Given the description of an element on the screen output the (x, y) to click on. 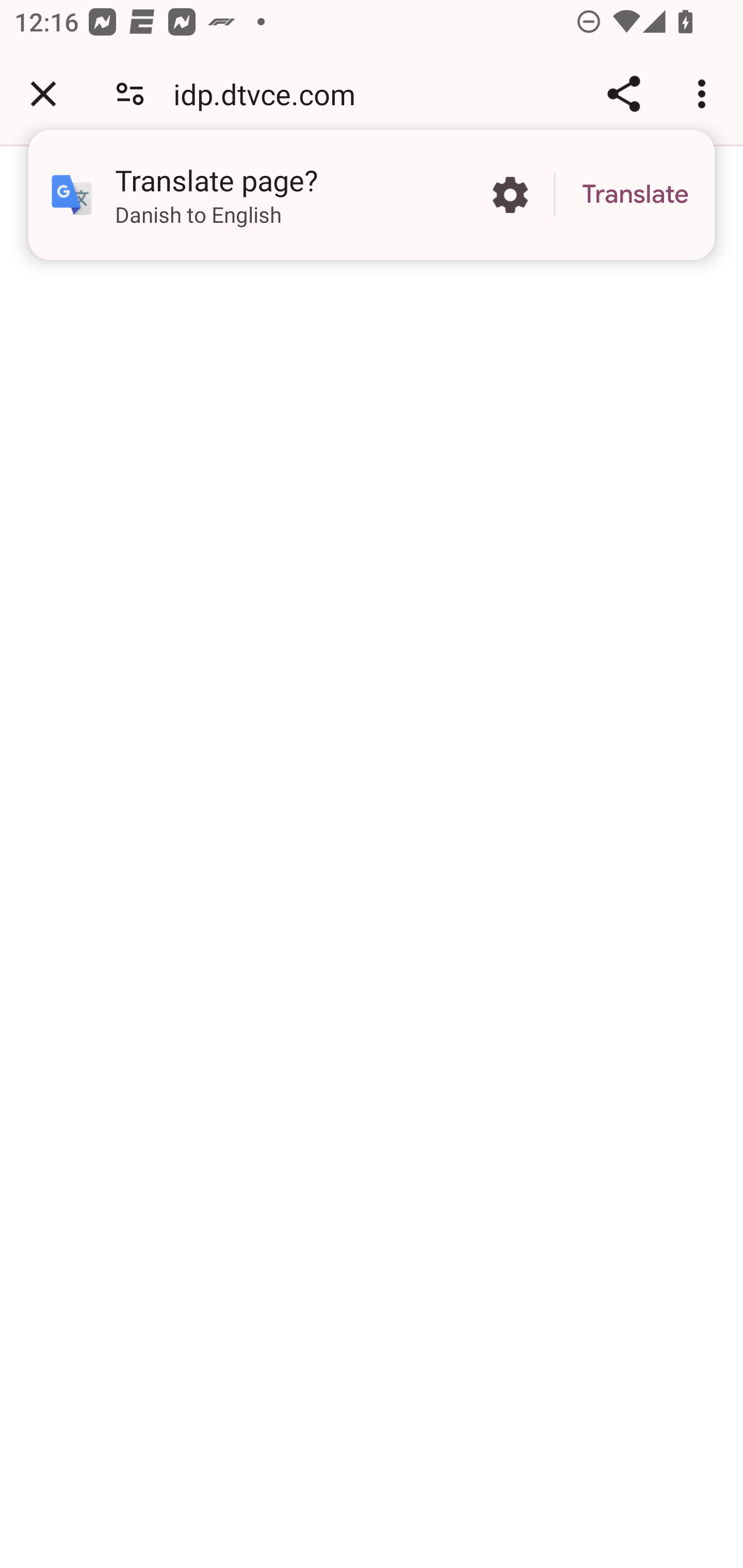
Close tab (43, 93)
Share (623, 93)
Customize and control Google Chrome (705, 93)
Connection is secure (129, 93)
idp.dtvce.com (271, 93)
Translate (634, 195)
More options in the Translate page? (509, 195)
